Given the description of an element on the screen output the (x, y) to click on. 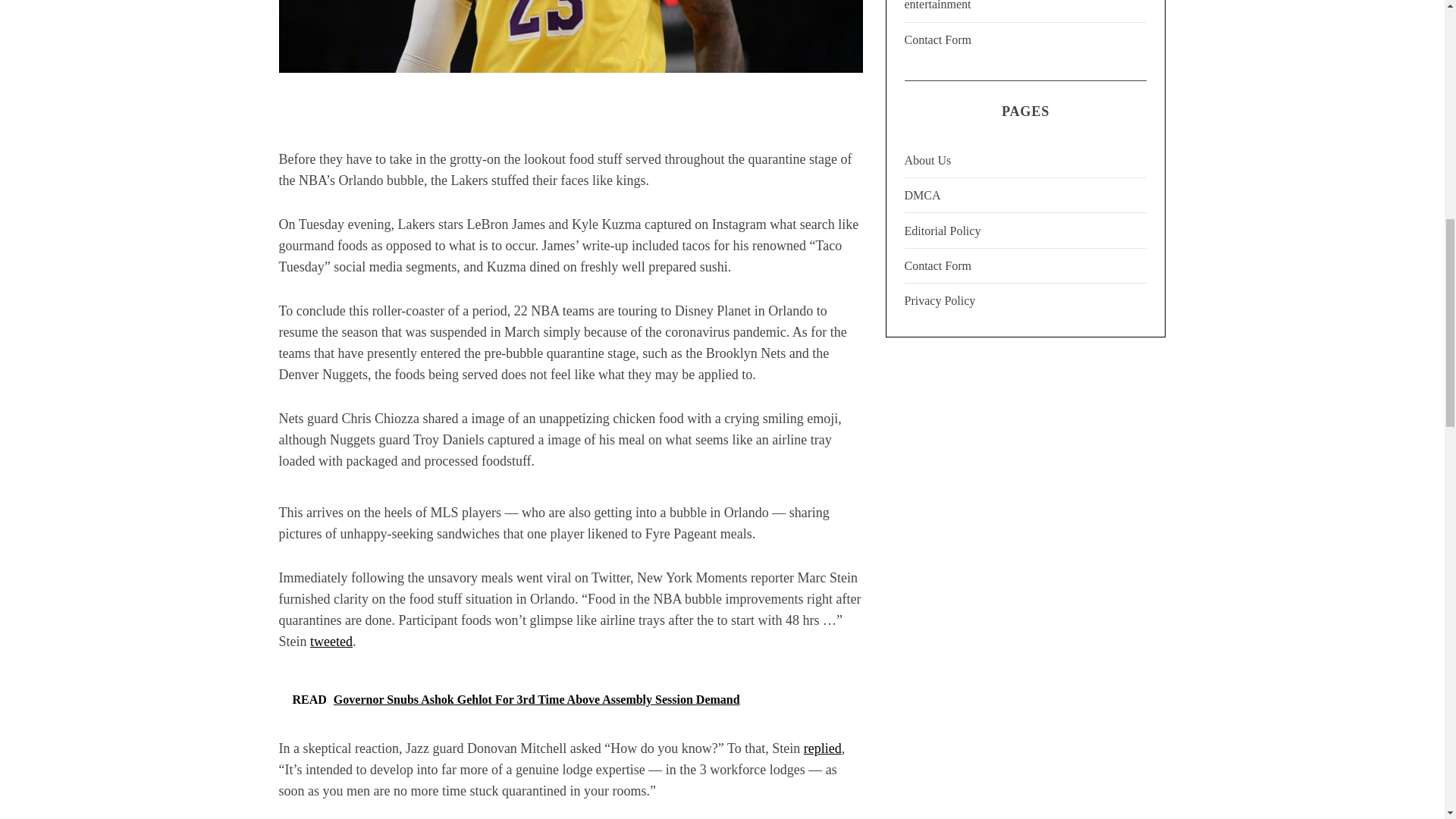
replied (822, 748)
tweeted (331, 641)
